Given the description of an element on the screen output the (x, y) to click on. 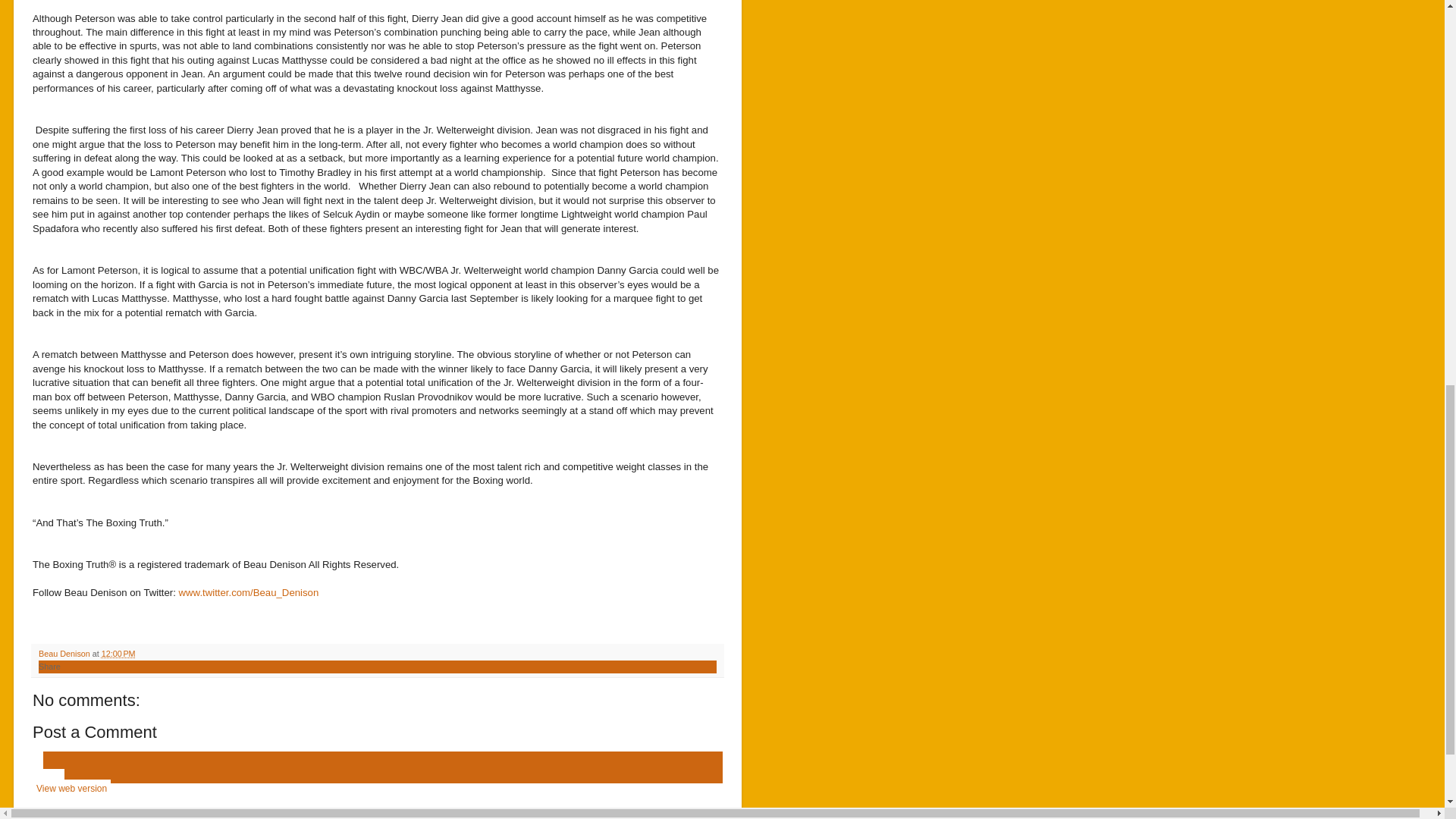
Beau Denison (66, 653)
permanent link (118, 653)
author profile (66, 653)
View web version (71, 788)
Home (48, 778)
Post a Comment (94, 732)
Share (50, 665)
